Given the description of an element on the screen output the (x, y) to click on. 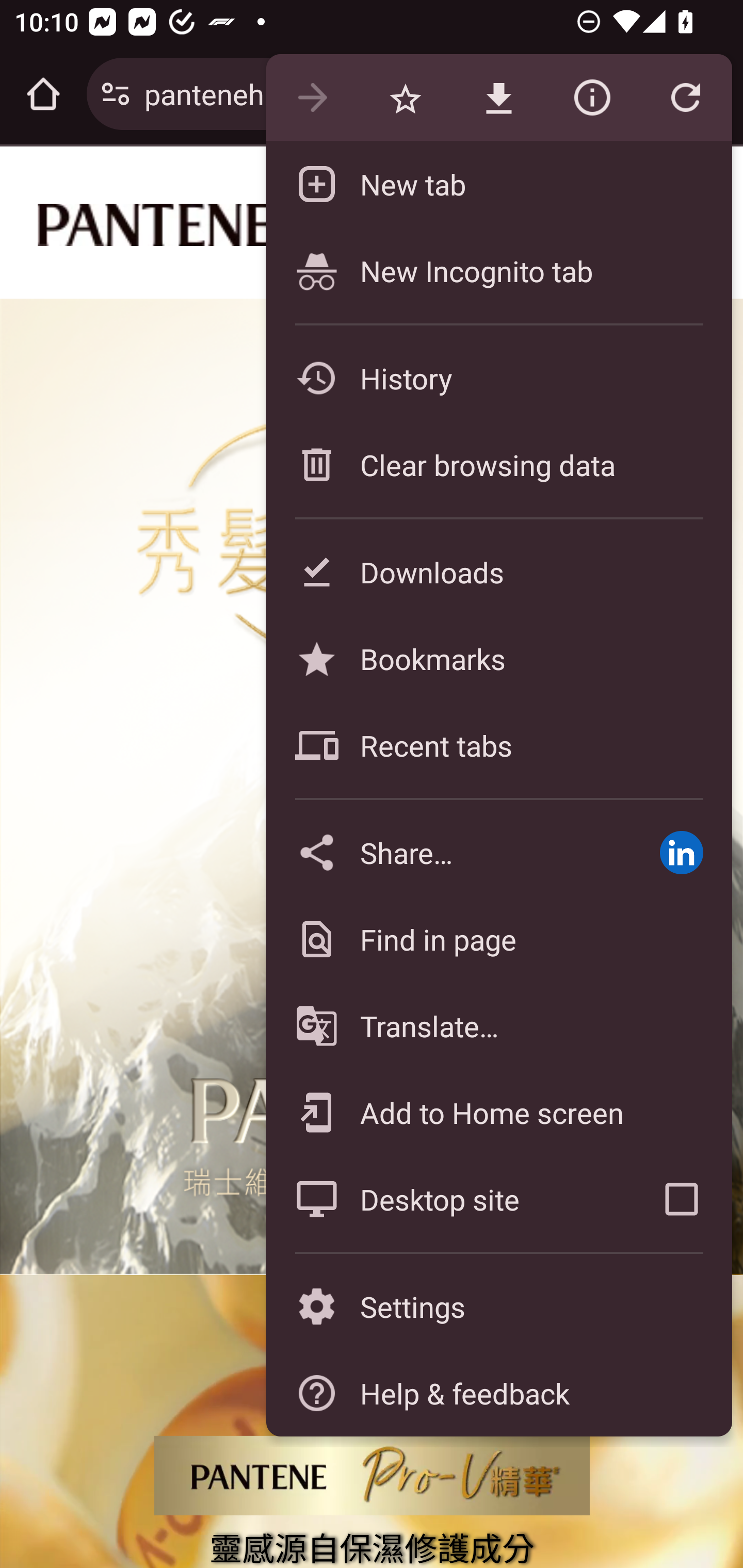
Forward (311, 97)
Bookmark (404, 97)
Download (498, 97)
Page info (591, 97)
Refresh (684, 97)
New tab (498, 184)
New Incognito tab (498, 270)
History (498, 377)
Clear browsing data (498, 464)
Downloads (498, 571)
Bookmarks (498, 658)
Recent tabs (498, 745)
Share… (447, 852)
Share via Share in a post (680, 852)
Find in page (498, 939)
Translate… (498, 1026)
Add to Home screen (498, 1112)
Desktop site Turn on Request desktop site (447, 1198)
Settings (498, 1306)
Help & feedback (498, 1393)
